Given the description of an element on the screen output the (x, y) to click on. 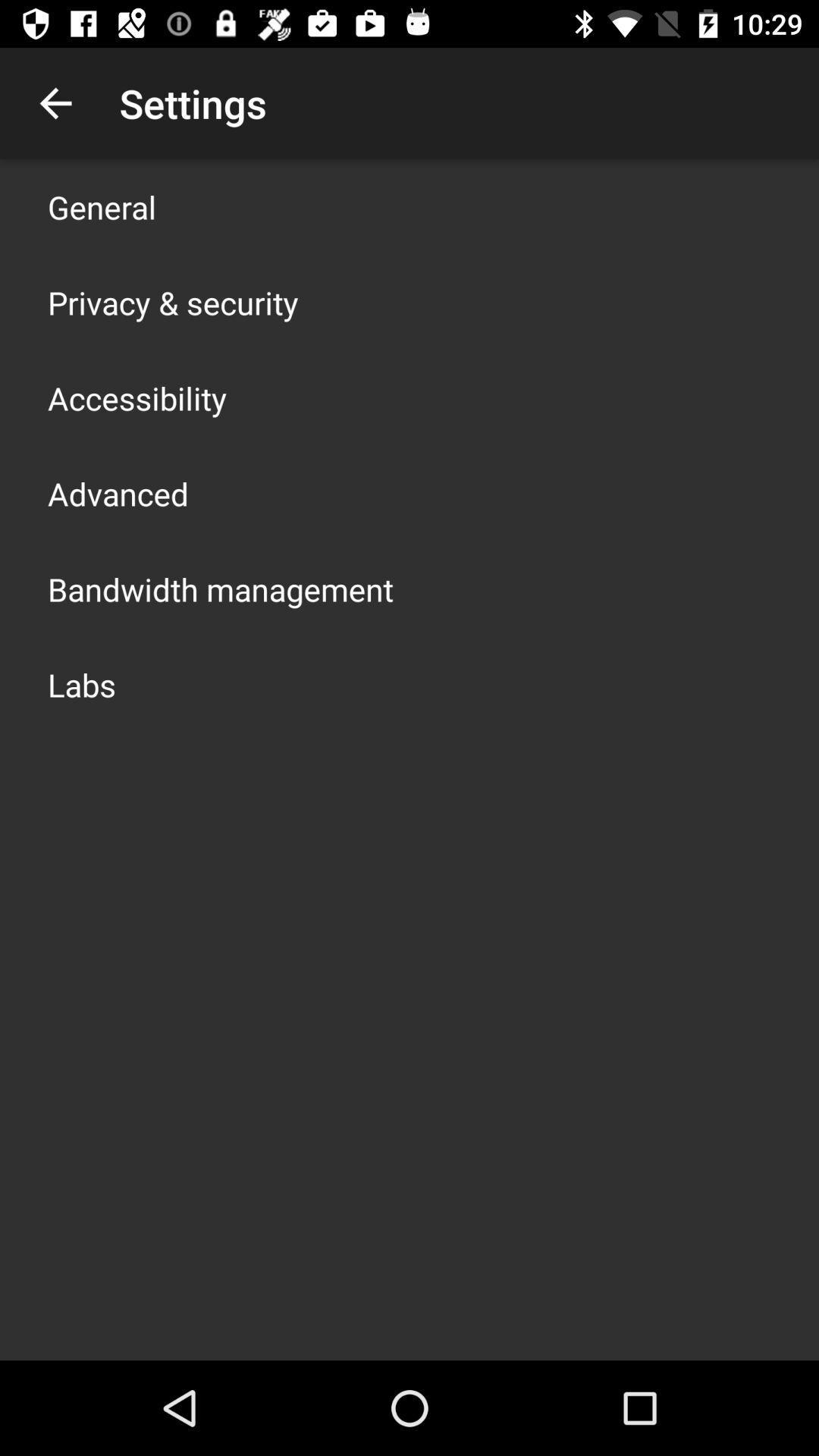
jump until general icon (101, 206)
